Given the description of an element on the screen output the (x, y) to click on. 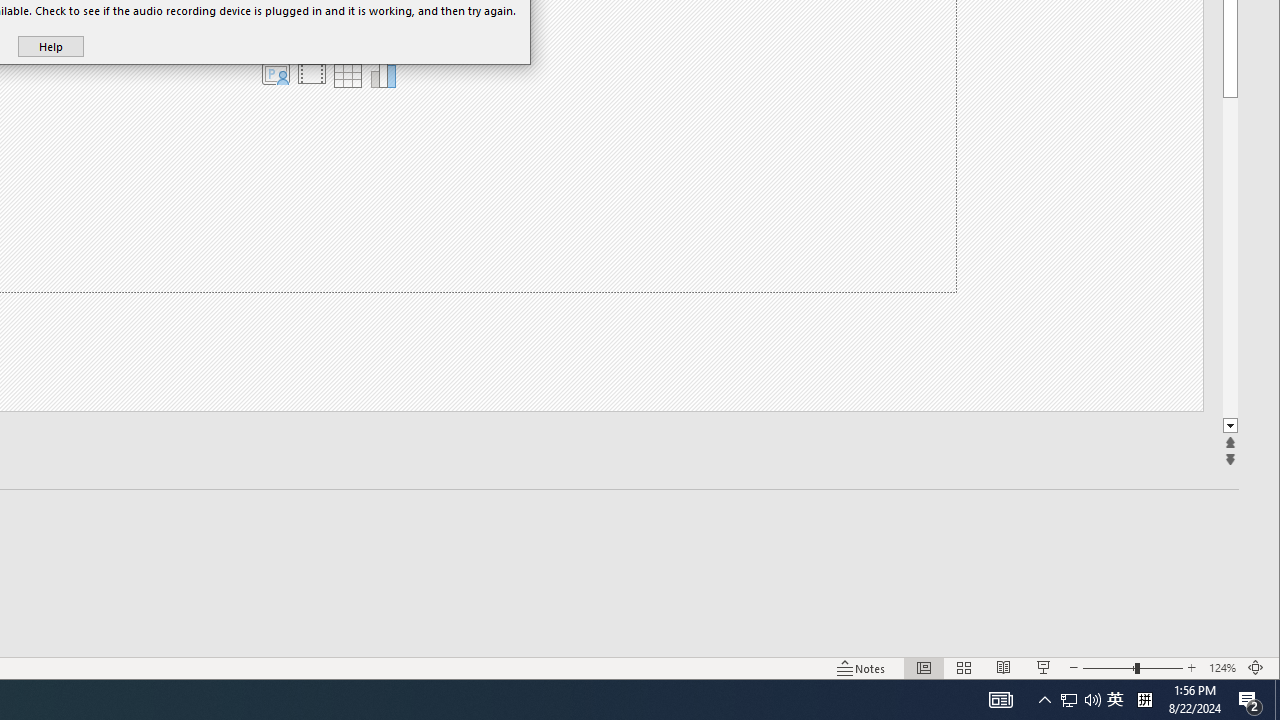
Zoom 124% (1222, 668)
